Given the description of an element on the screen output the (x, y) to click on. 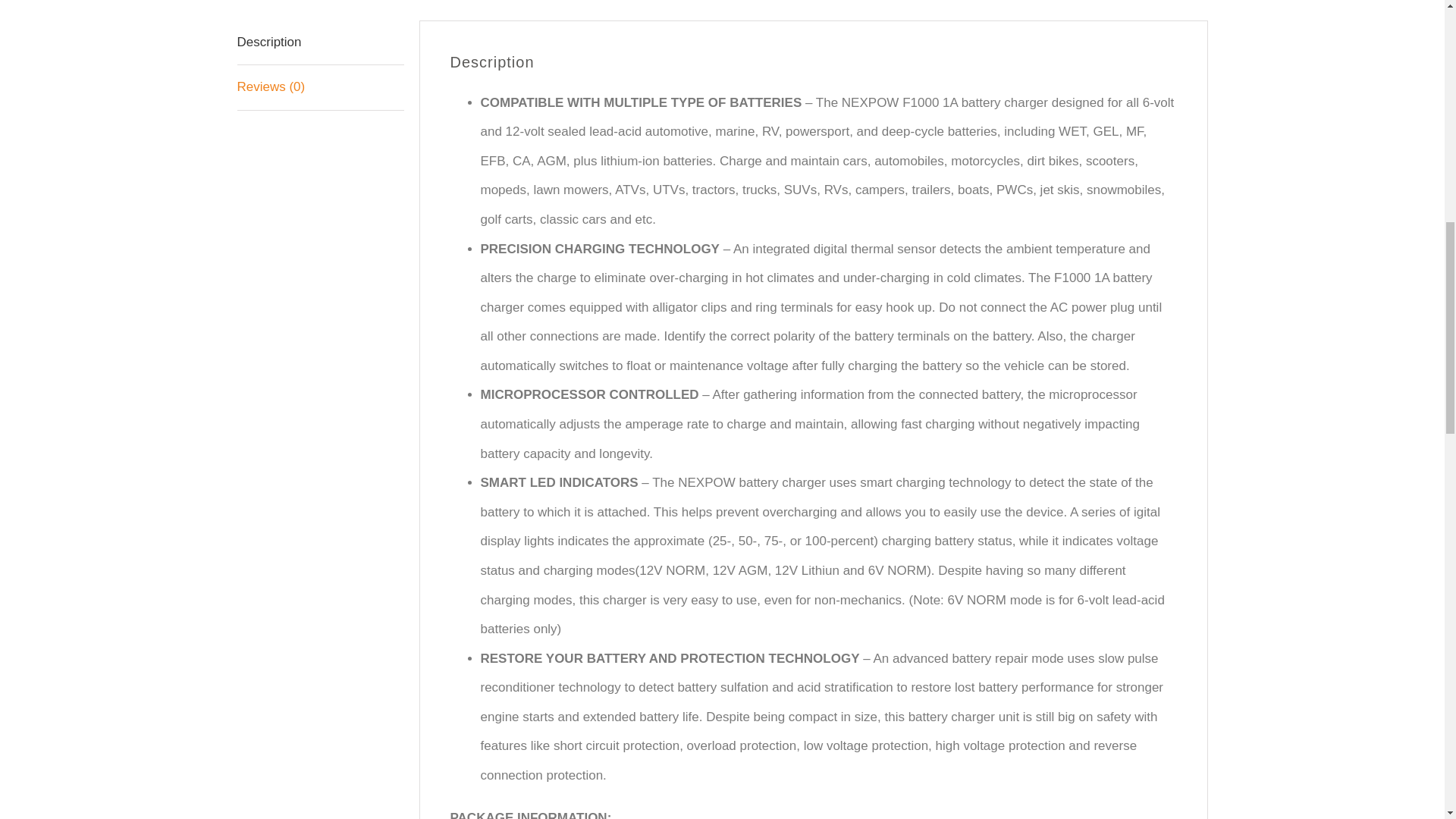
Description (319, 43)
